Given the description of an element on the screen output the (x, y) to click on. 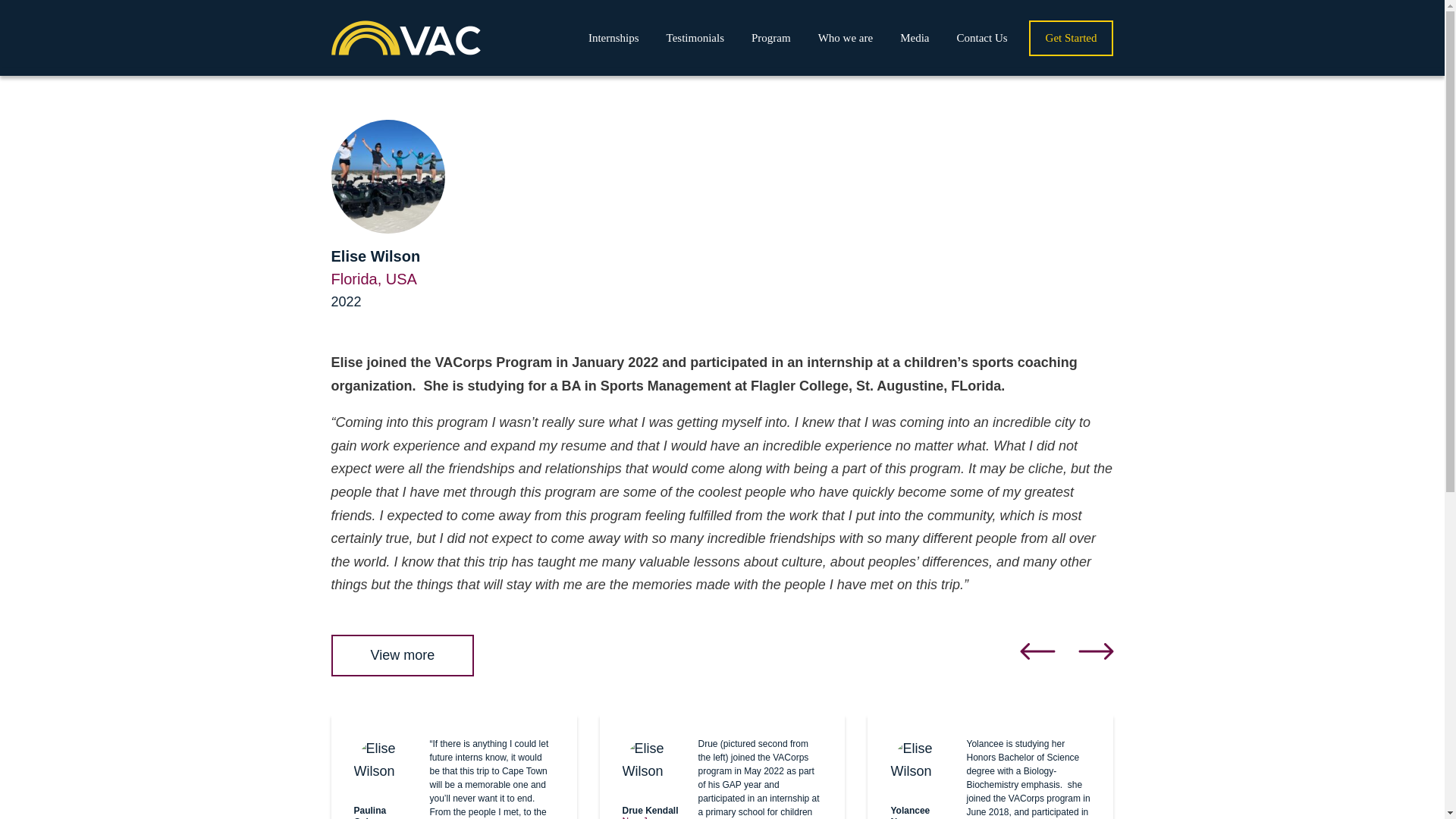
Internships (613, 38)
Testimonials (695, 38)
Program (770, 38)
Who we are (845, 38)
